Given the description of an element on the screen output the (x, y) to click on. 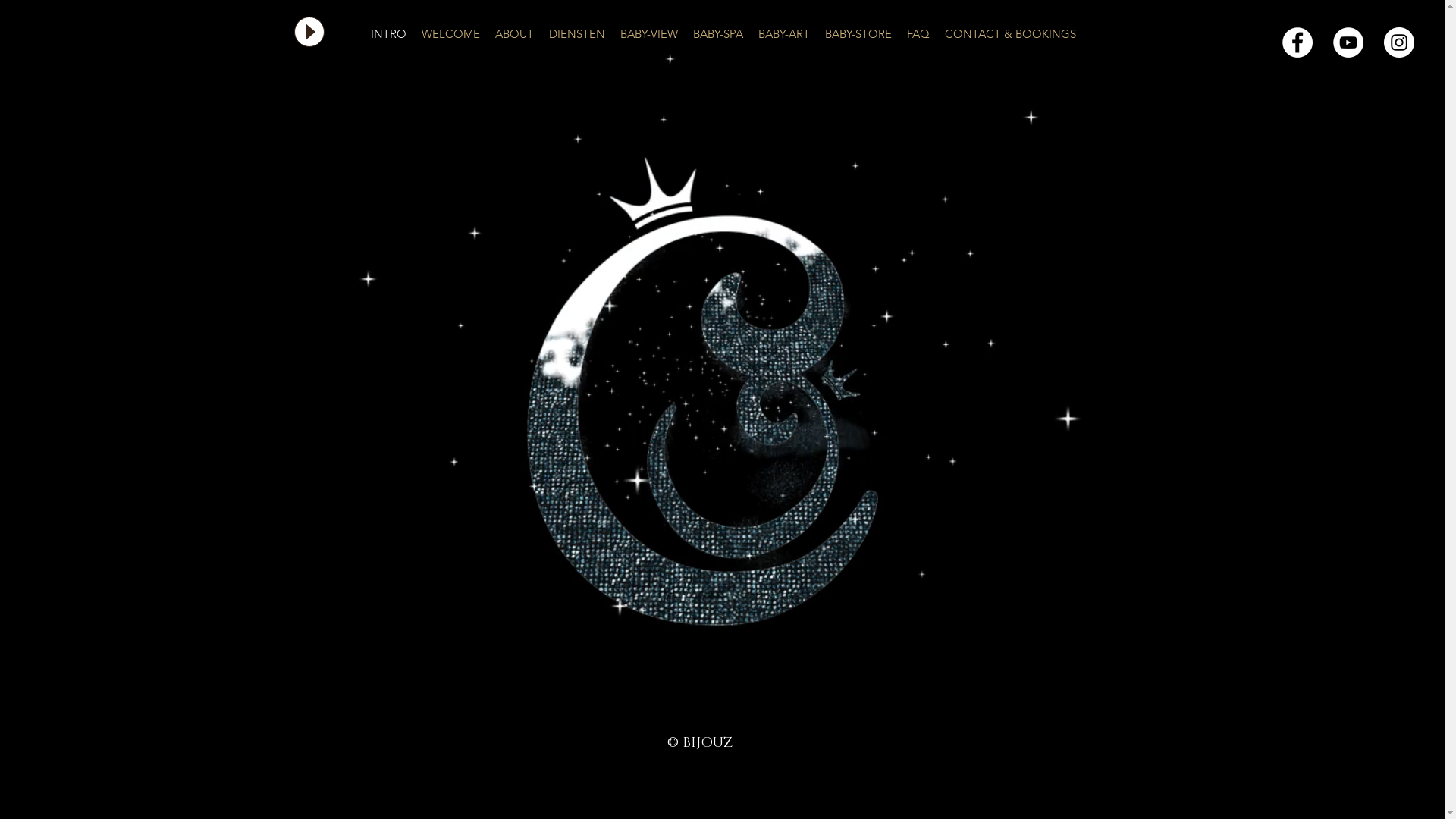
INTRO Element type: text (388, 34)
BABY-ART Element type: text (783, 34)
WELCOME Element type: text (450, 34)
pretecho Element type: text (721, 405)
DIENSTEN Element type: text (576, 34)
BABY-STORE Element type: text (858, 34)
BABY-SPA Element type: text (717, 34)
CONTACT & BOOKINGS Element type: text (1010, 34)
ABOUT Element type: text (514, 34)
BABY-VIEW Element type: text (648, 34)
FAQ Element type: text (918, 34)
